Given the description of an element on the screen output the (x, y) to click on. 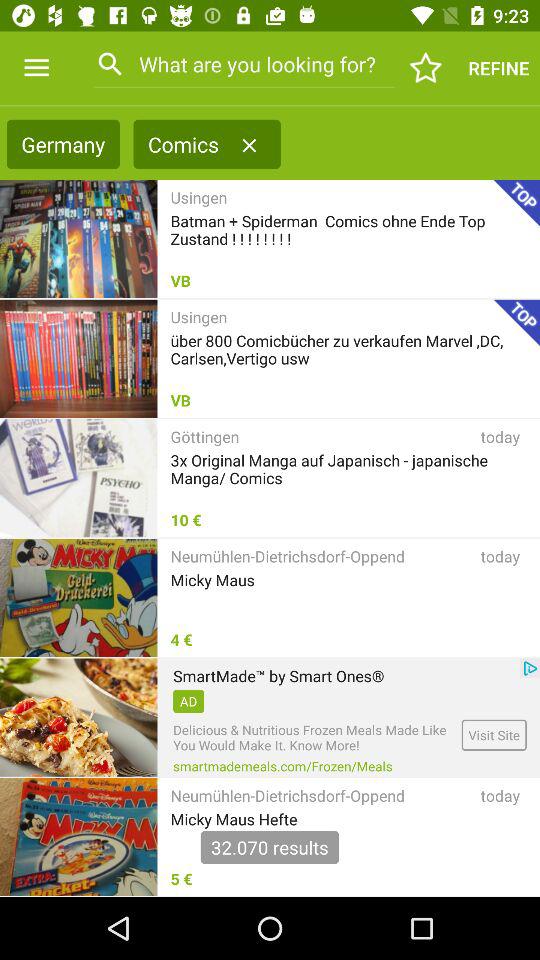
choose delicious nutritious frozen (313, 737)
